Given the description of an element on the screen output the (x, y) to click on. 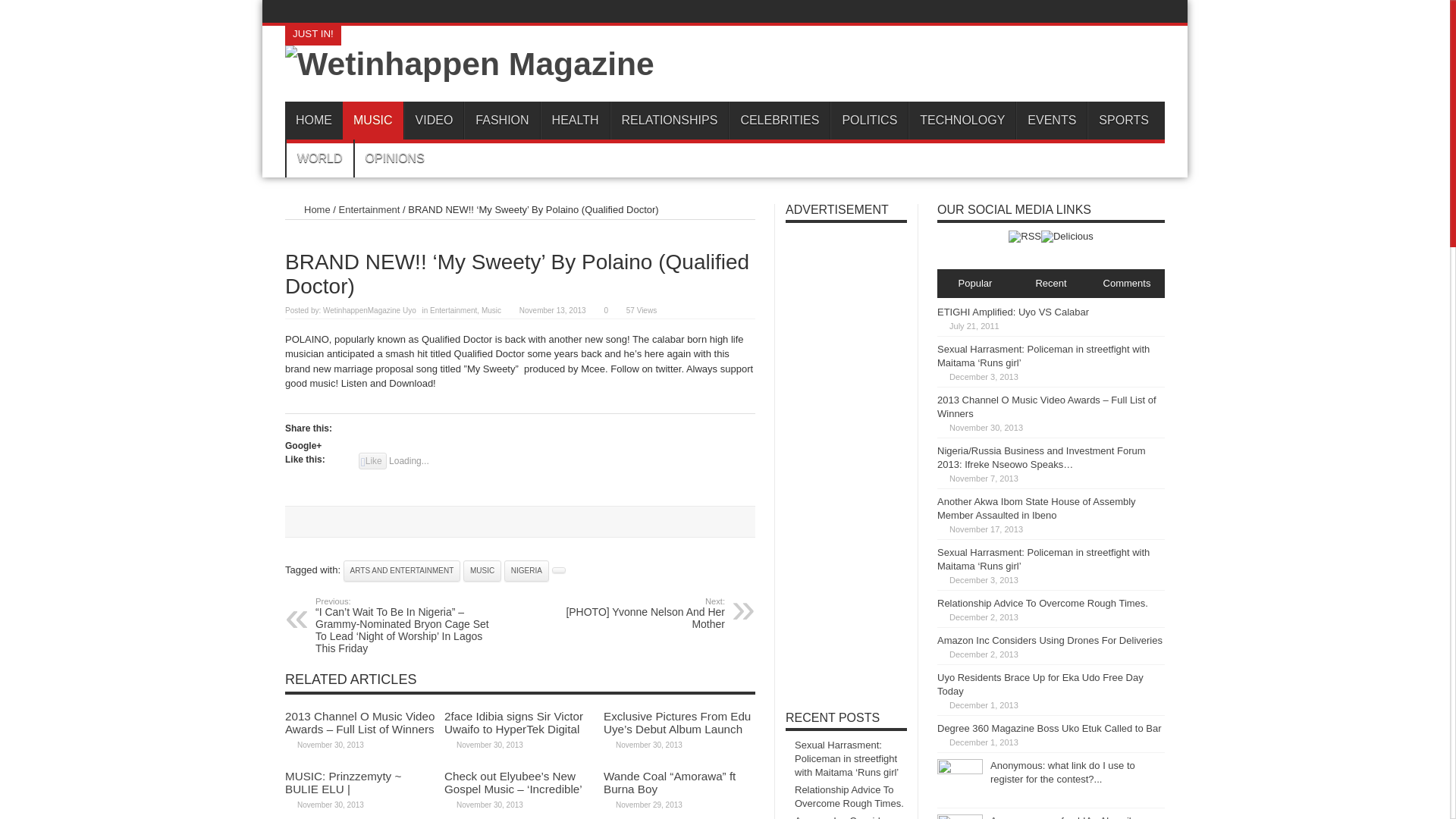
Entertainment (453, 310)
VIDEO (434, 120)
HEALTH (575, 120)
WORLD (319, 158)
ARTS AND ENTERTAINMENT (402, 570)
FASHION (501, 120)
HOME (313, 120)
RELATIONSHIPS (669, 120)
MUSIC (372, 120)
View all posts in Music (490, 310)
